Given the description of an element on the screen output the (x, y) to click on. 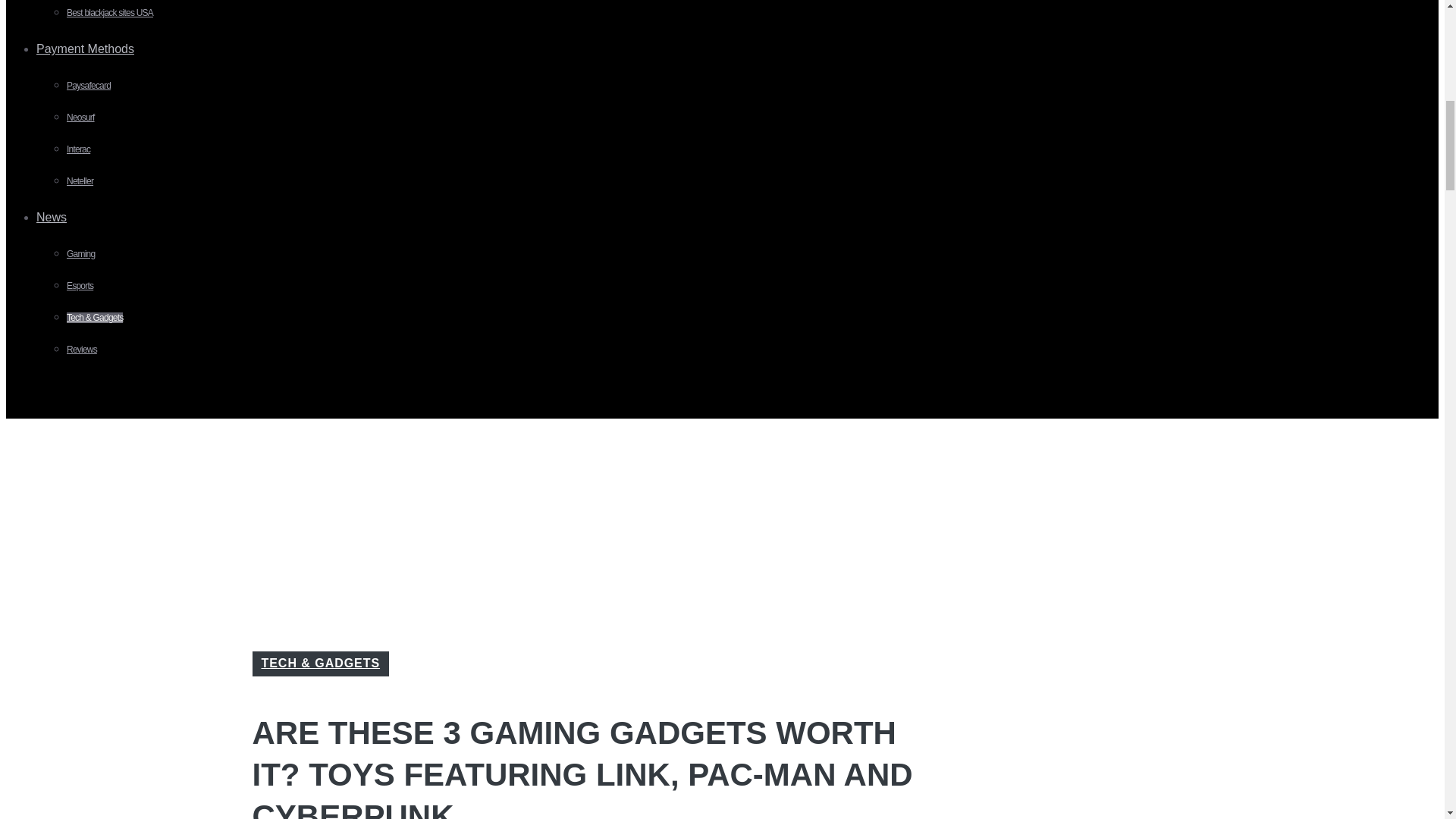
Paysafecard (88, 85)
Neteller (79, 181)
Neosurf (80, 117)
Best blackjack sites USA (109, 12)
Esports (79, 285)
Payment Methods (91, 48)
Gaming (80, 253)
Interac (78, 149)
Scroll back to top (1406, 720)
News (57, 216)
Reviews (81, 348)
